Given the description of an element on the screen output the (x, y) to click on. 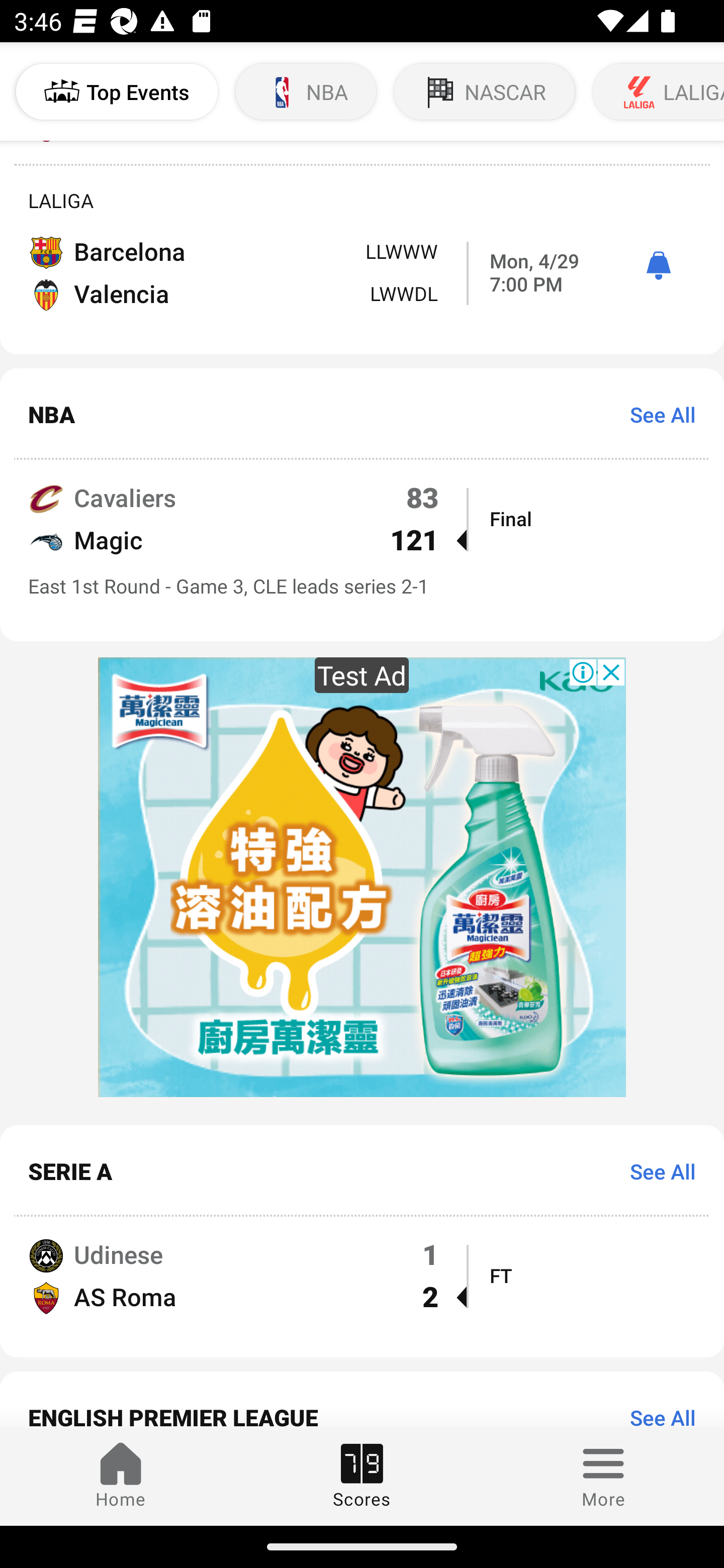
 Top Events (116, 91)
NBA (305, 91)
NASCAR (484, 91)
LALIGA (656, 91)
ì (658, 266)
NBA See All (362, 413)
See All (655, 413)
SERIE A See All (362, 1170)
See All (655, 1171)
Udinese 1 AS Roma 2  FT (362, 1286)
Home (120, 1475)
More (603, 1475)
